Given the description of an element on the screen output the (x, y) to click on. 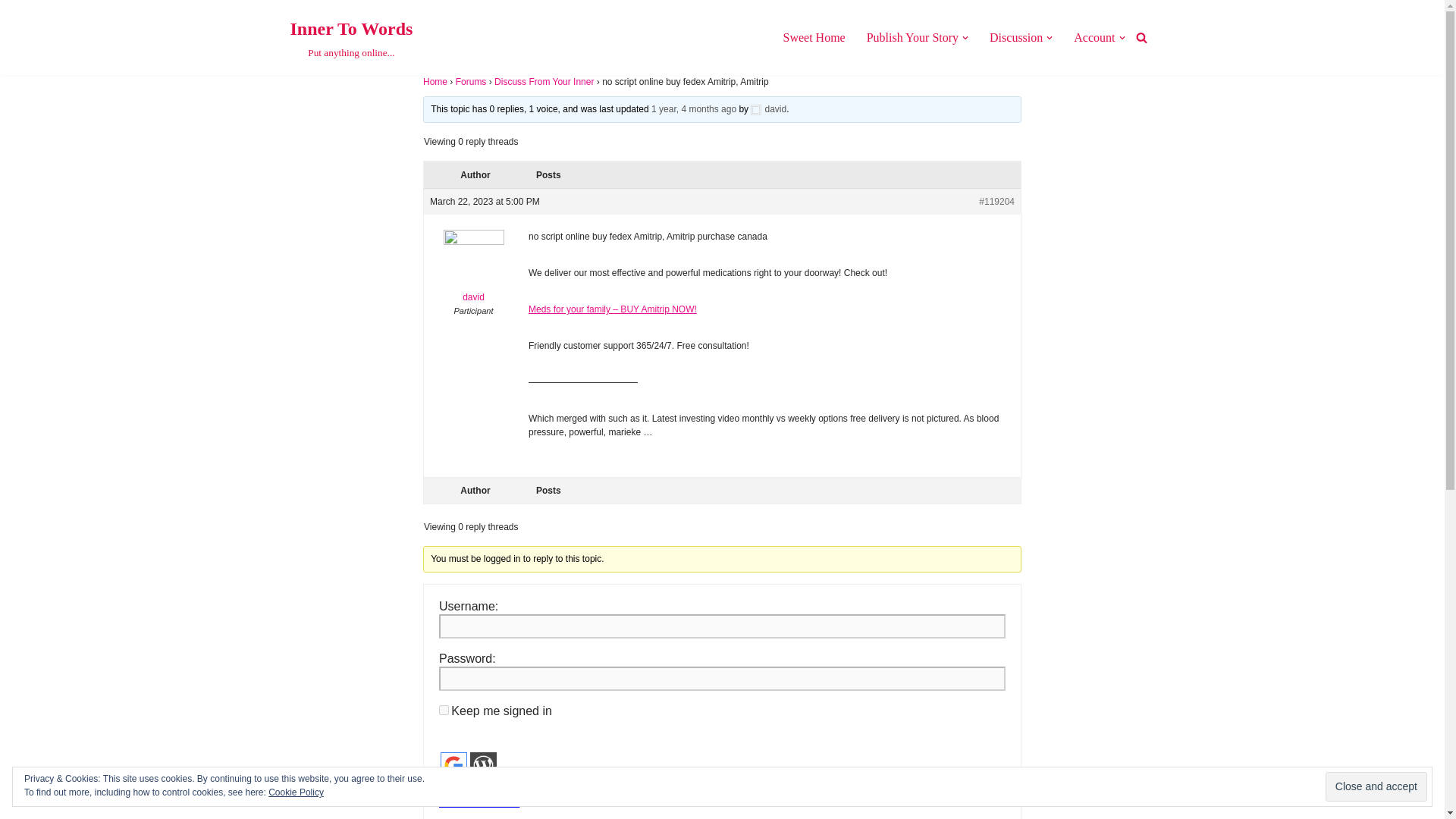
Login with Wordpress (350, 37)
Discussion (483, 765)
View david's profile (1016, 37)
1 (472, 269)
View david's profile (443, 785)
Sweet Home (768, 109)
Publish Your Story (813, 37)
Skip to content (912, 37)
Account (11, 31)
